Given the description of an element on the screen output the (x, y) to click on. 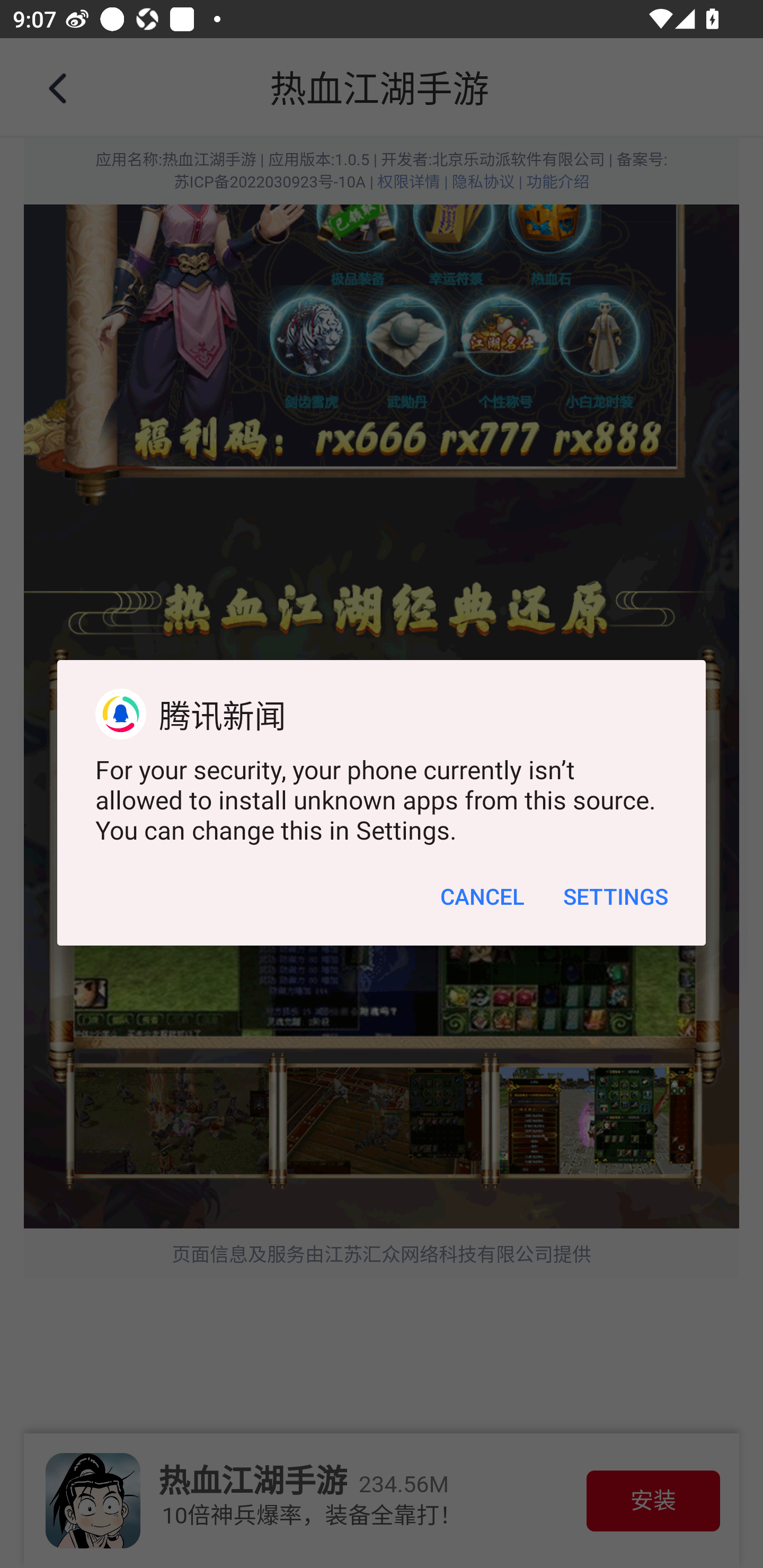
CANCEL (482, 895)
SETTINGS (614, 895)
